Given the description of an element on the screen output the (x, y) to click on. 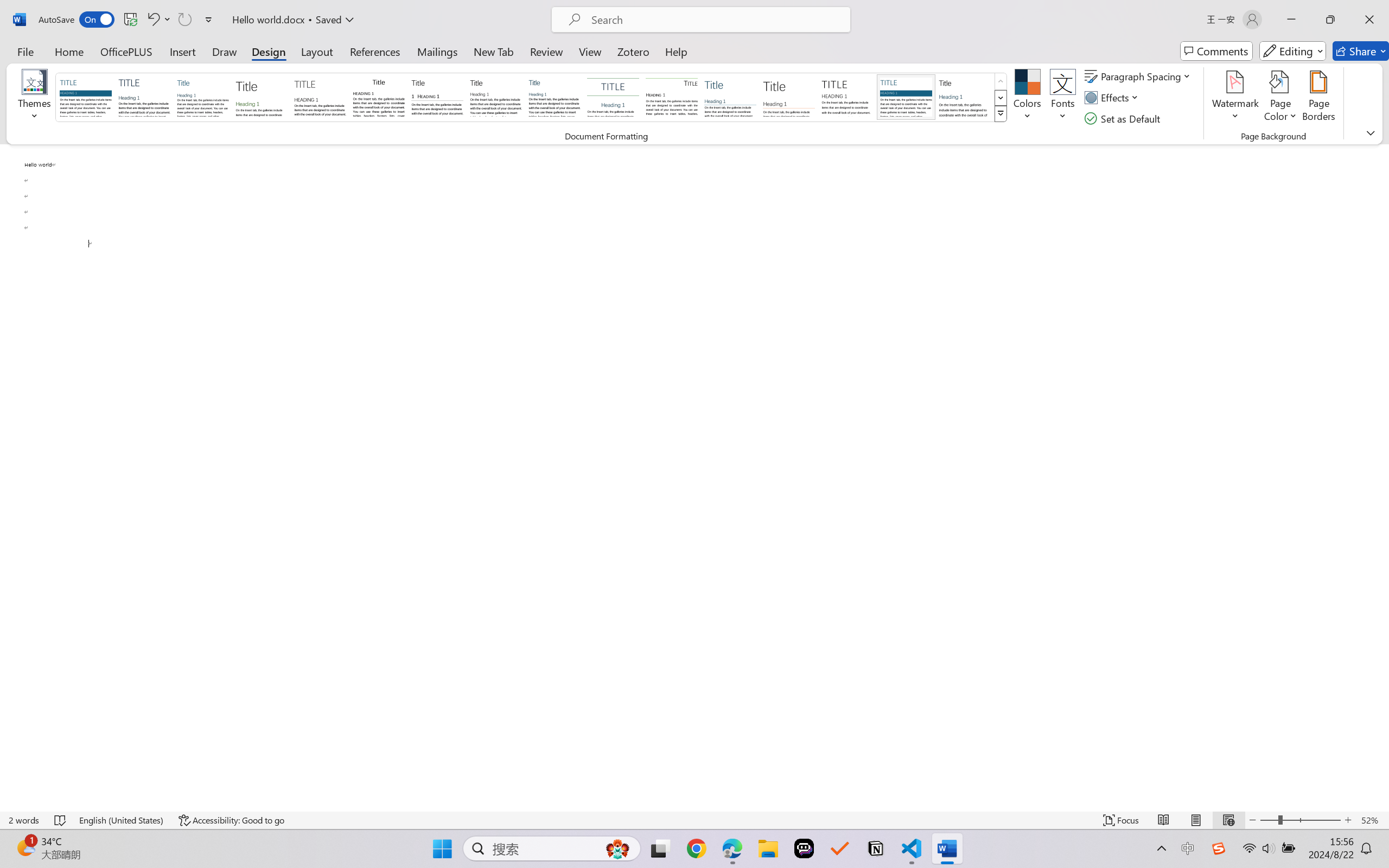
Zotero (632, 51)
Language English (United States) (121, 819)
AutomationID: BadgeAnchorLargeTicker (24, 847)
Black & White (Numbered) (437, 96)
Draw (224, 51)
Editing (1292, 50)
Undo Apply Quick Style Set (158, 19)
Casual (554, 96)
Effects (1113, 97)
